Given the description of an element on the screen output the (x, y) to click on. 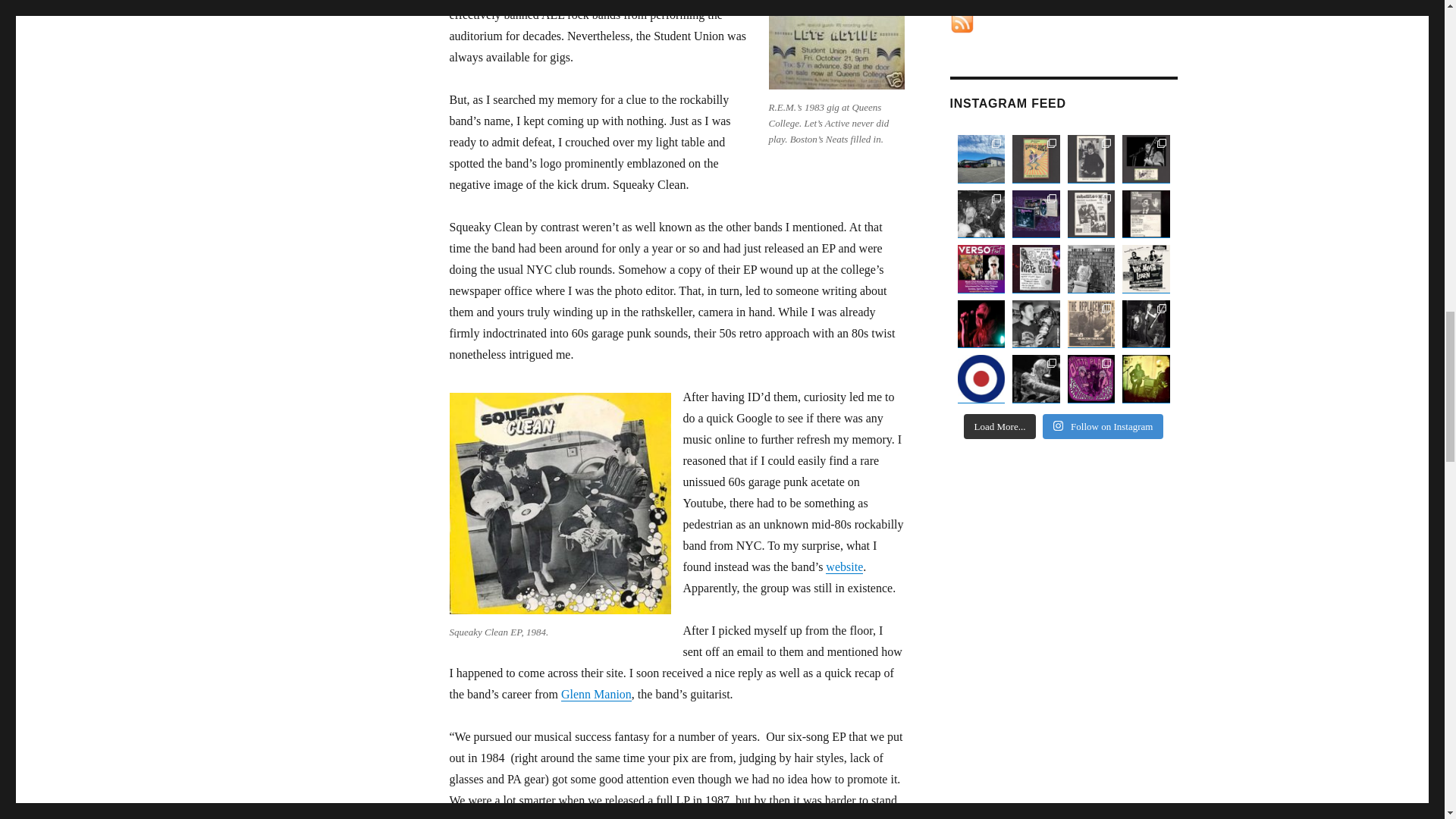
Glenn Manion (595, 694)
website (844, 566)
